Given the description of an element on the screen output the (x, y) to click on. 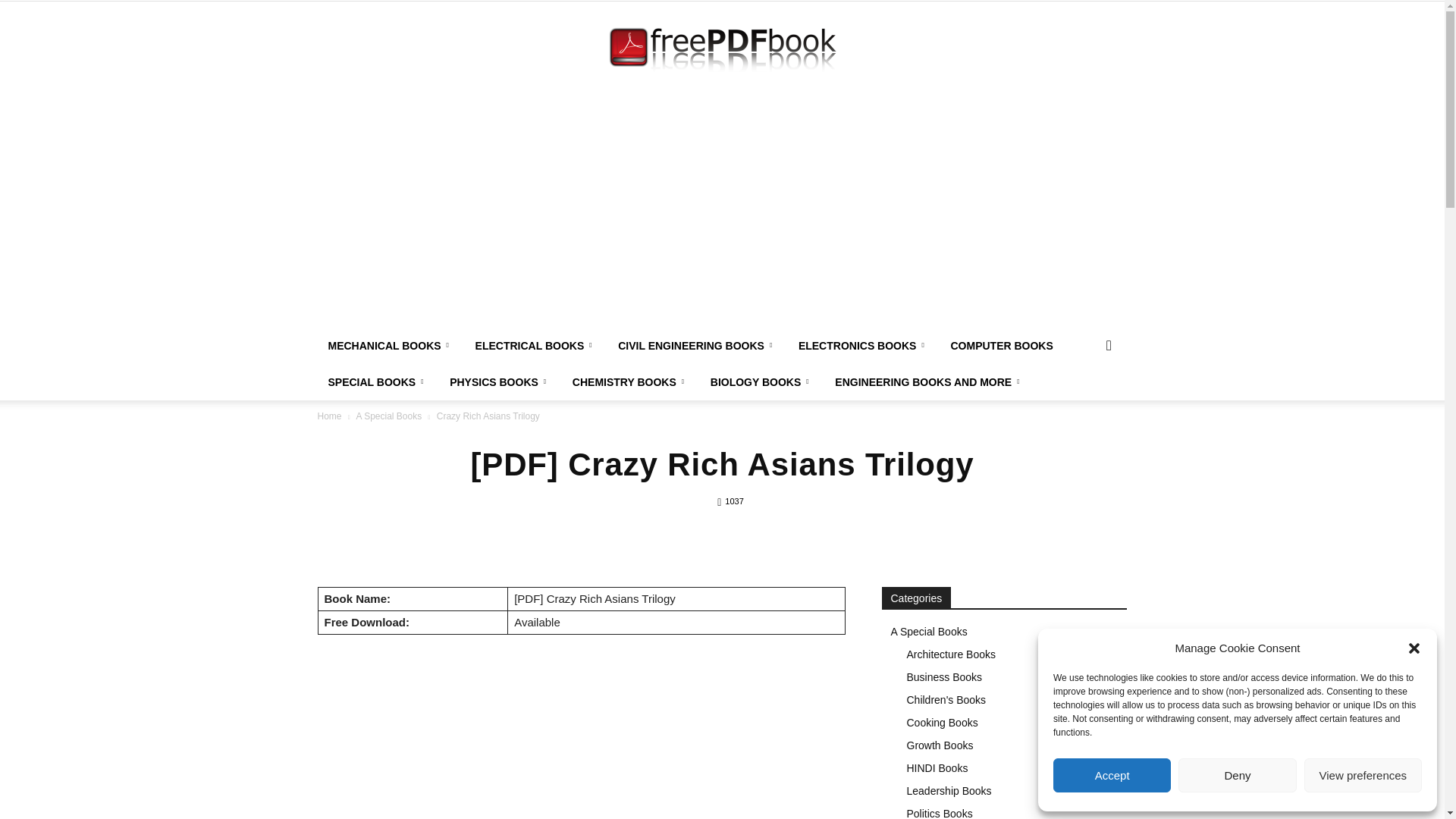
View preferences (1363, 775)
Accept (1111, 775)
Deny (1236, 775)
